Given the description of an element on the screen output the (x, y) to click on. 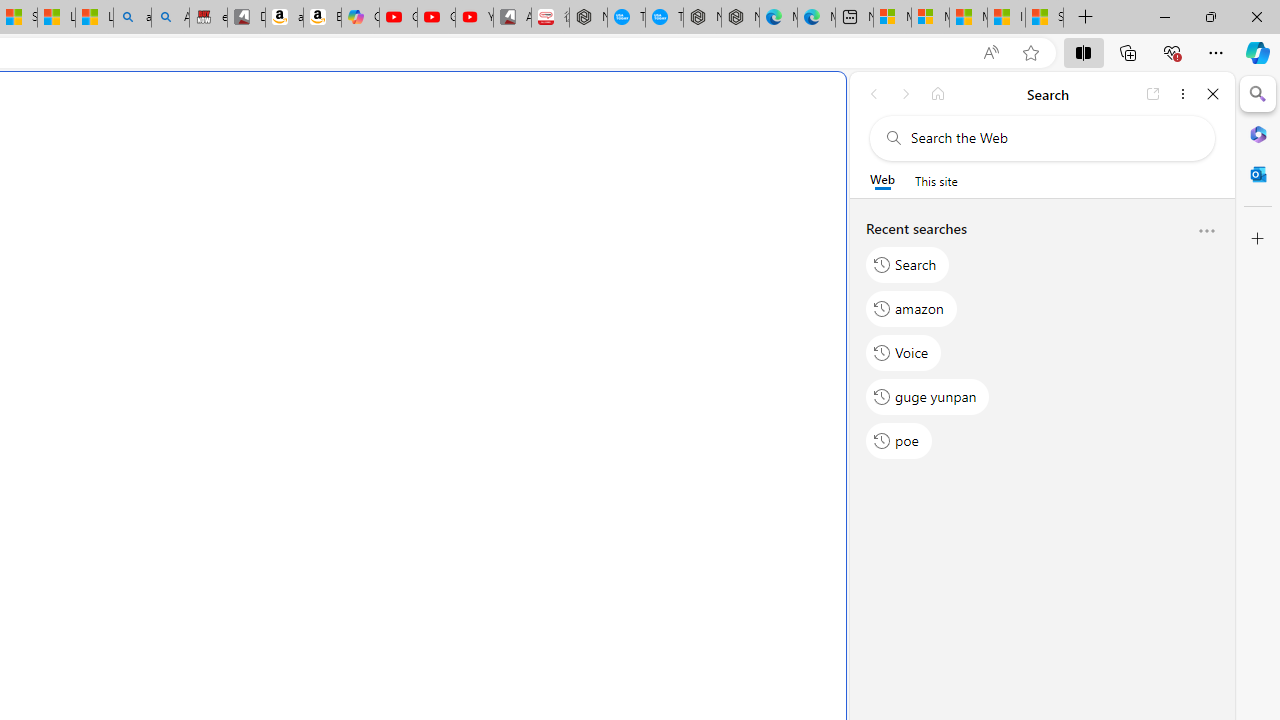
Gloom - YouTube (436, 17)
Copilot (359, 17)
YouTube Kids - An App Created for Kids to Explore Content (473, 17)
Recent searchesSearchamazonVoiceguge yunpanpoe (1042, 342)
Open link in new tab (1153, 93)
Forward (906, 93)
